Given the description of an element on the screen output the (x, y) to click on. 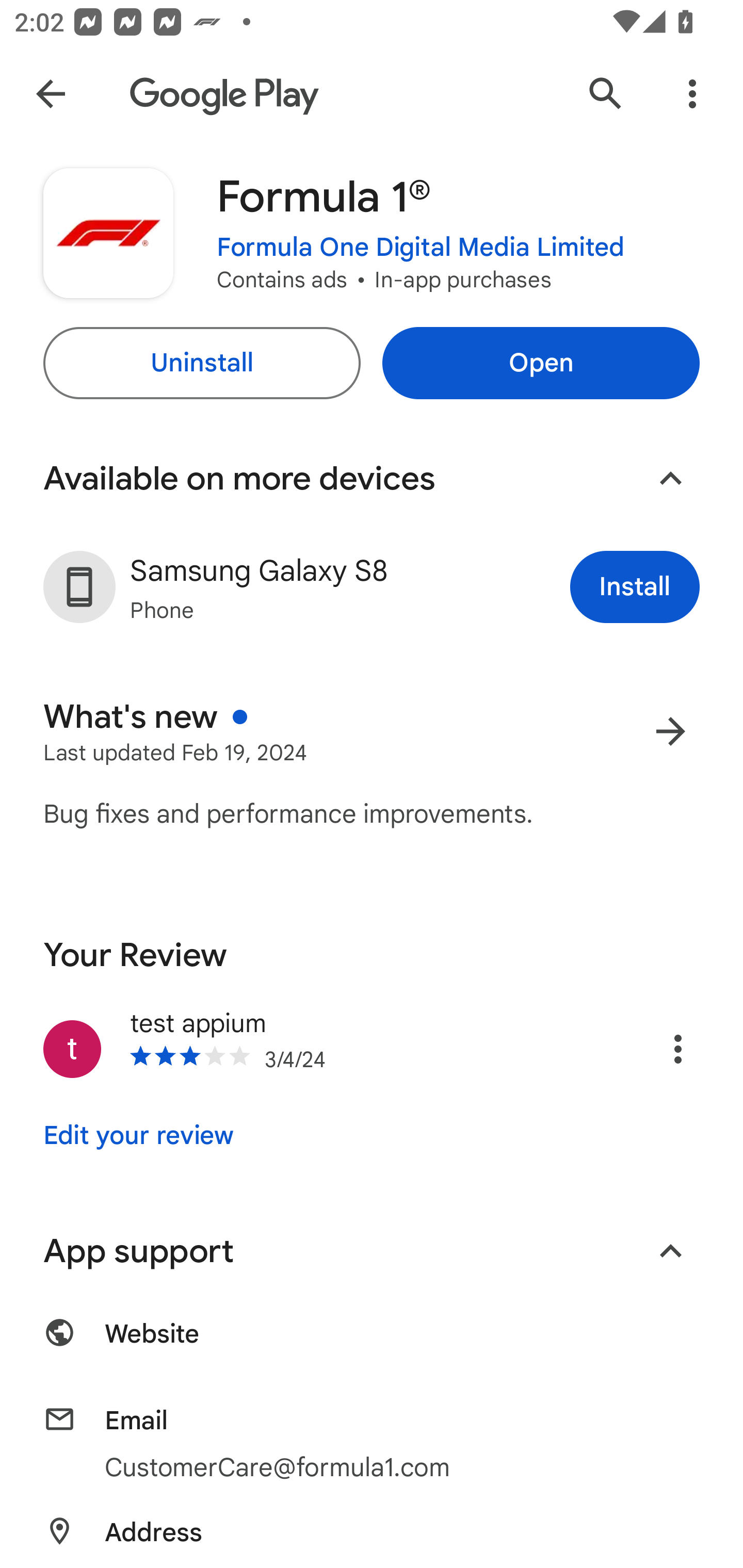
Navigate up (50, 93)
Search Google Play (605, 93)
More Options (692, 93)
Formula One Digital Media Limited (420, 247)
Uninstall (201, 362)
Open (540, 362)
Available on more devices Collapse (371, 478)
Collapse (670, 478)
Install (634, 587)
More results for What's new (670, 731)
Options (655, 1048)
Edit your review (138, 1135)
App support Collapse (371, 1251)
Collapse (670, 1251)
Website (371, 1345)
Email CustomerCare@formula1.com (371, 1444)
